Given the description of an element on the screen output the (x, y) to click on. 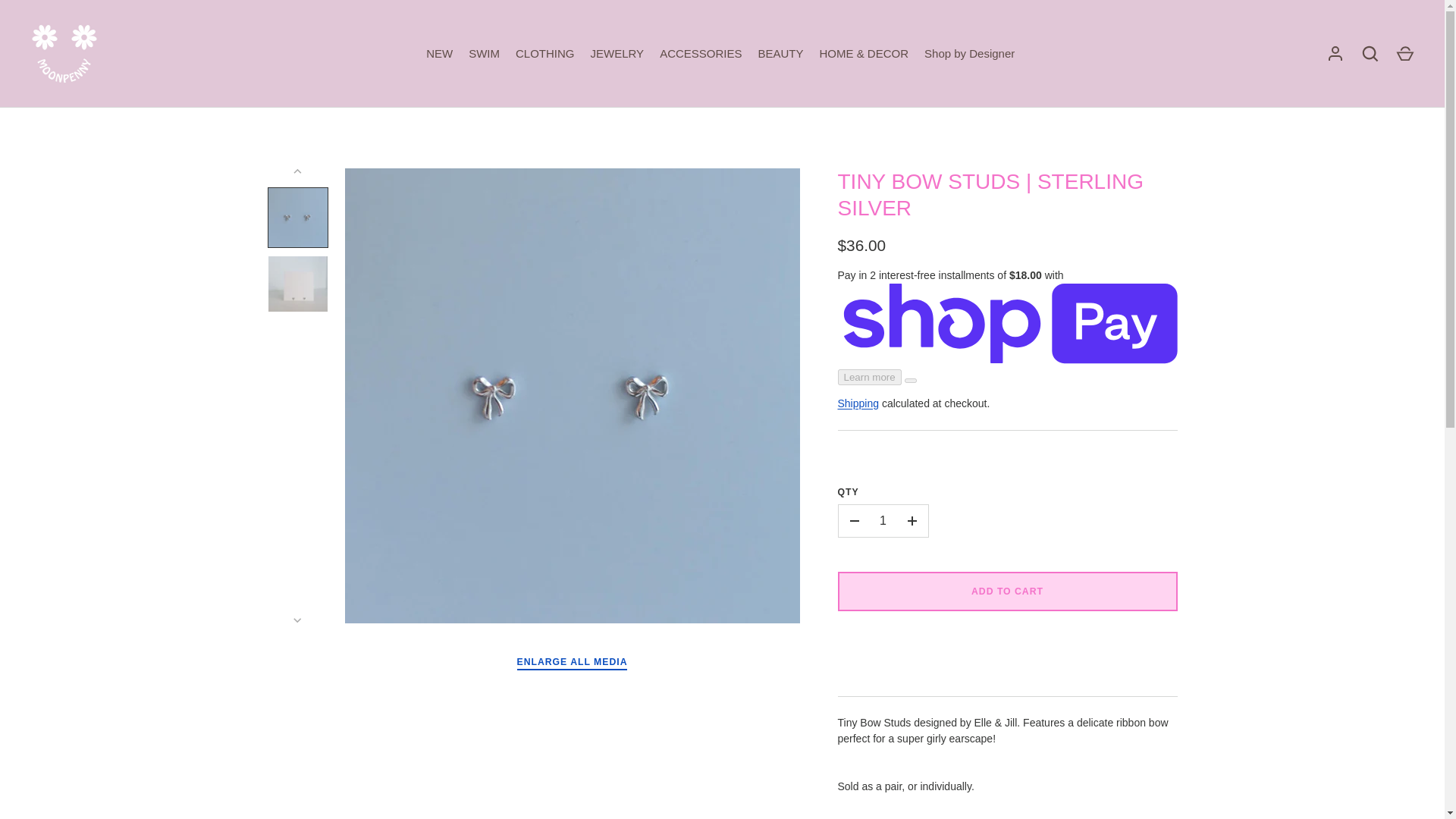
NEW (440, 54)
SWIM (484, 54)
1 (883, 521)
ACCESSORIES (700, 54)
CLOTHING (545, 54)
JEWELRY (617, 54)
